Given the description of an element on the screen output the (x, y) to click on. 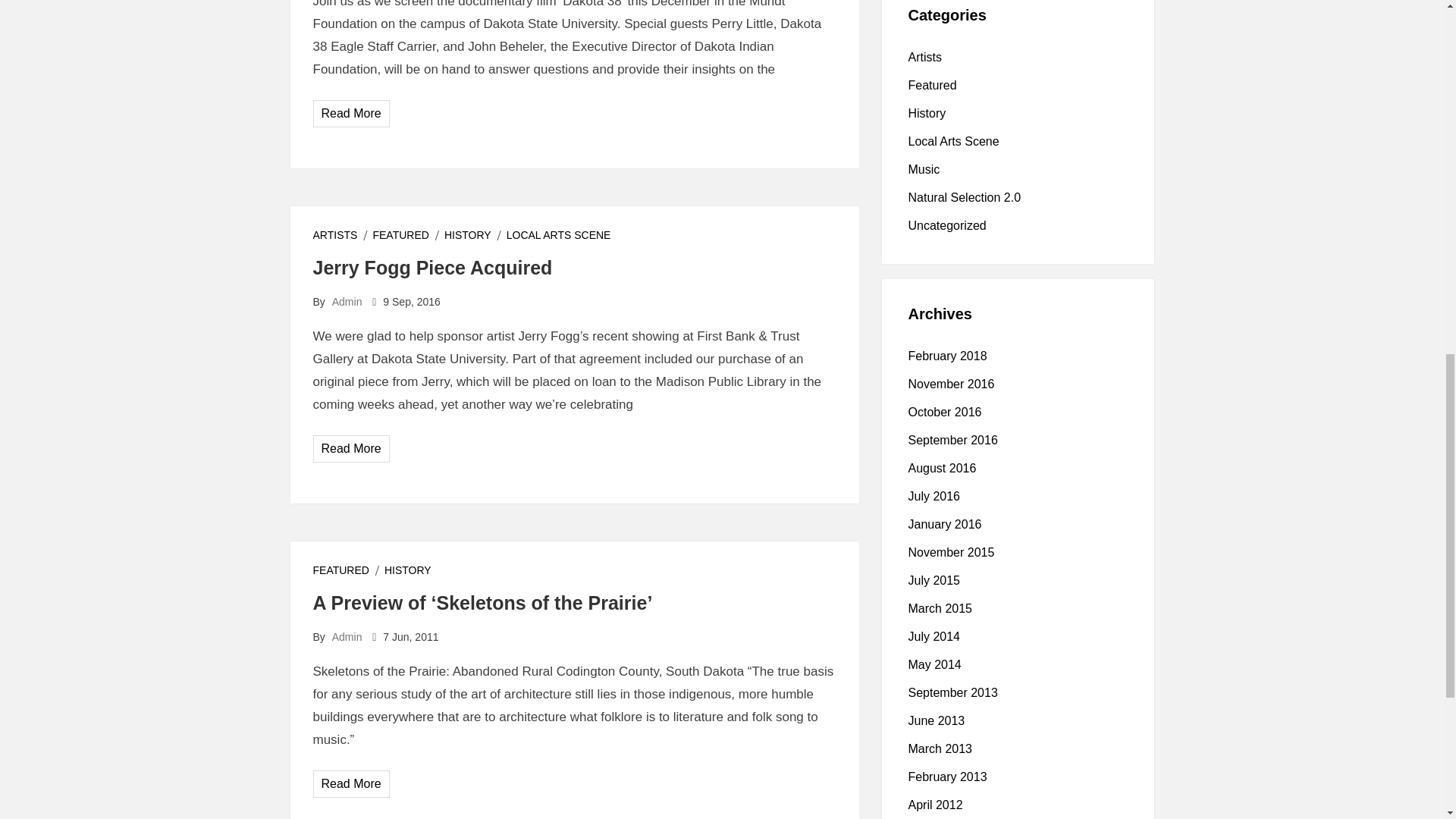
FEATURED (400, 234)
HISTORY (468, 234)
Admin (346, 636)
Jerry Fogg Piece Acquired (432, 267)
LOCAL ARTS SCENE (558, 234)
ARTISTS (334, 234)
Read More (351, 448)
Admin (346, 301)
Featured (932, 84)
FEATURED (340, 570)
